Given the description of an element on the screen output the (x, y) to click on. 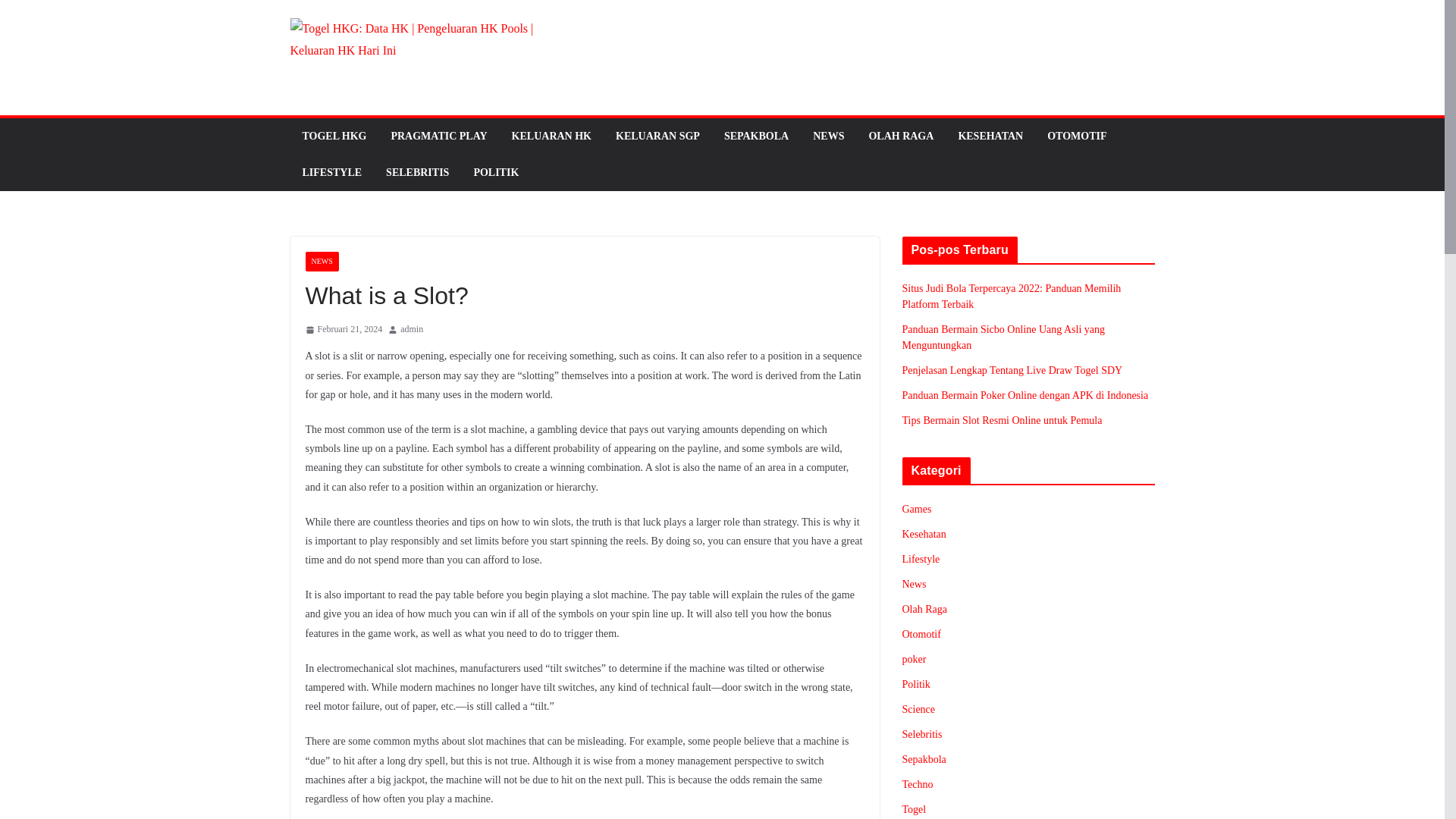
Penjelasan Lengkap Tentang Live Draw Togel SDY (1012, 369)
Olah Raga (924, 609)
Lifestyle (921, 559)
Games (916, 509)
Sepakbola (924, 758)
TOGEL HKG (333, 136)
Februari 21, 2024 (342, 329)
KELUARAN HK (551, 136)
SEPAKBOLA (756, 136)
